Given the description of an element on the screen output the (x, y) to click on. 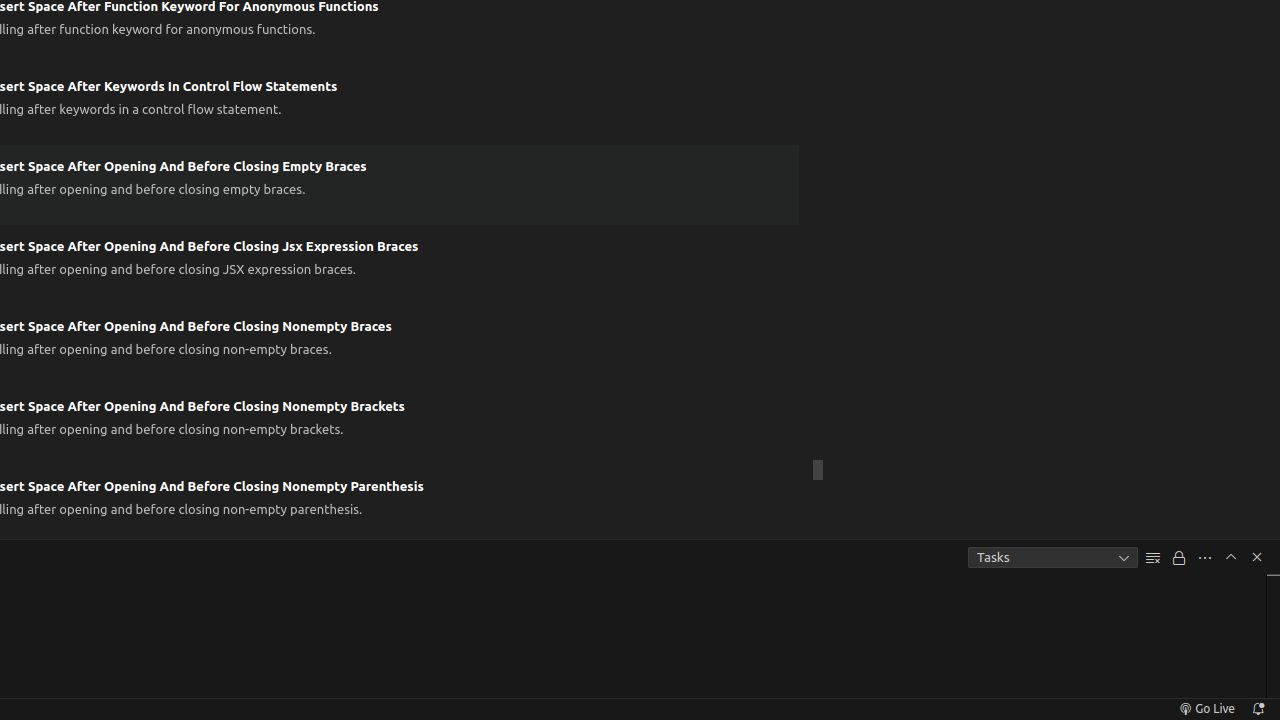
Clear Output Element type: push-button (1153, 557)
broadcast Go Live, Click to run live server Element type: push-button (1206, 709)
Notifications Element type: push-button (1258, 709)
